Given the description of an element on the screen output the (x, y) to click on. 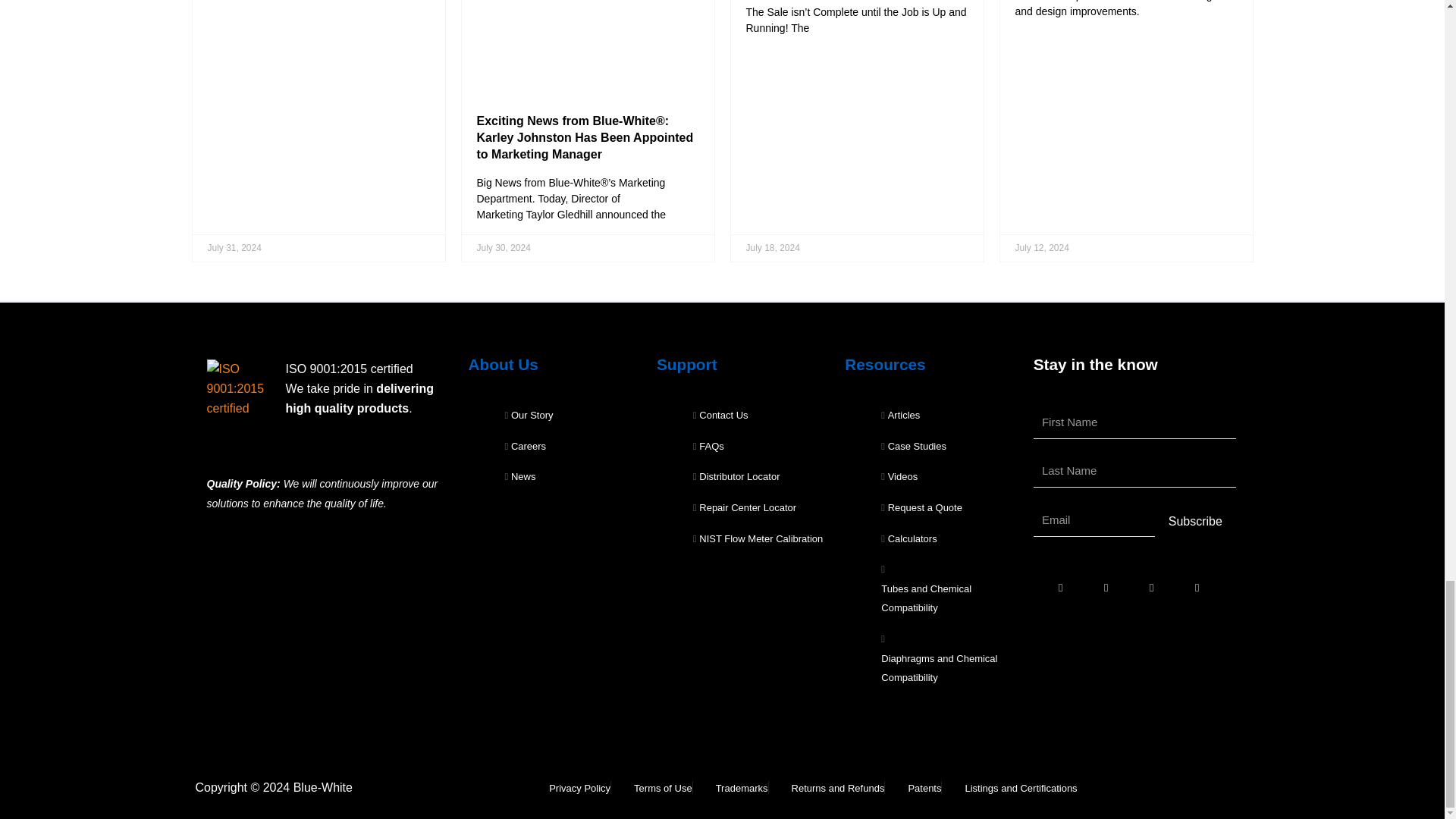
News (520, 476)
Distributor Locator (736, 476)
Calculators (908, 538)
Articles (900, 414)
Careers (526, 446)
Request a Quote (921, 507)
Repair Center Locator (744, 507)
Case Studies (913, 446)
Support (686, 364)
Our Story (529, 414)
